Given the description of an element on the screen output the (x, y) to click on. 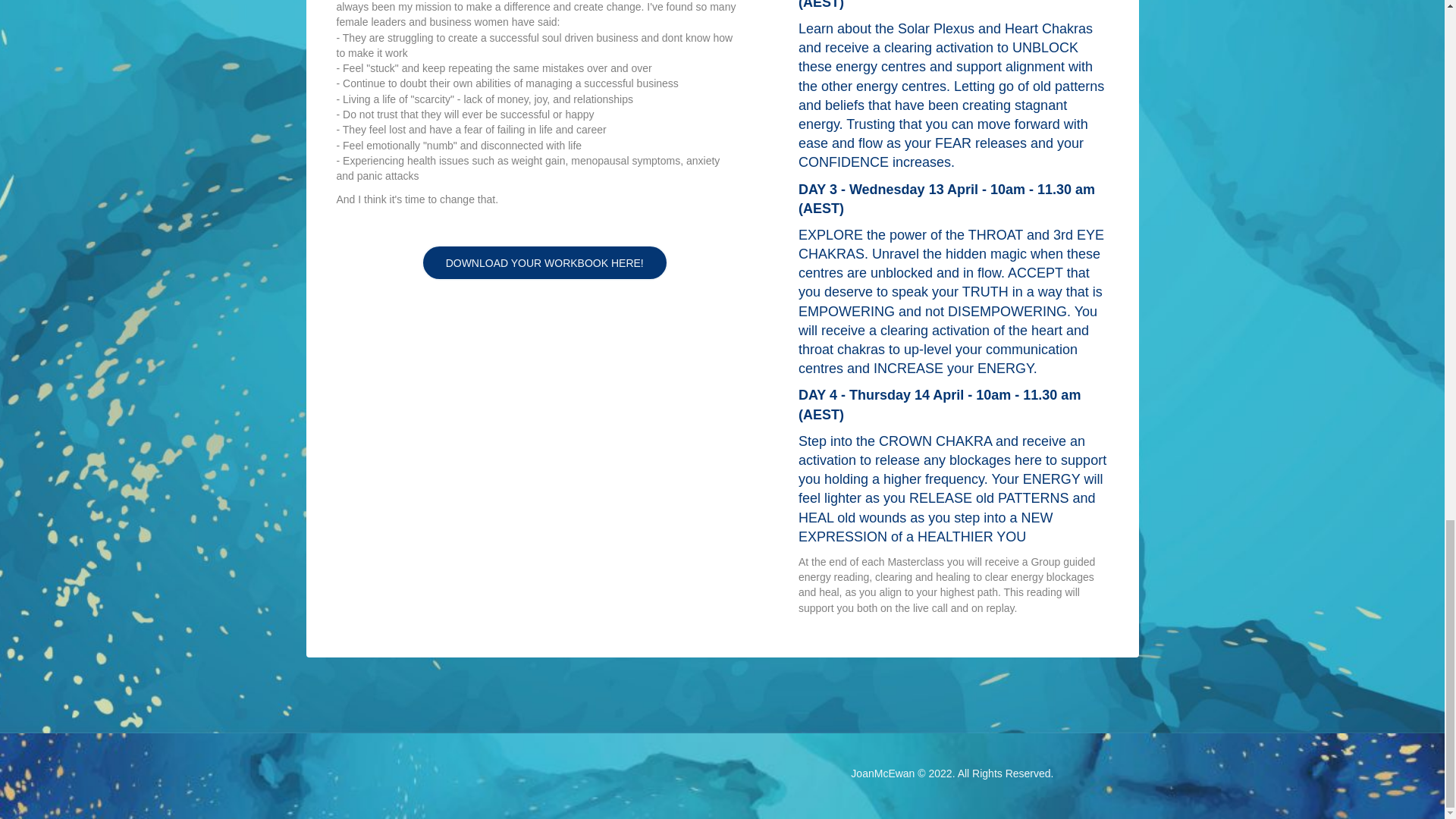
You decide and claim your superpower now! (537, 428)
